Given the description of an element on the screen output the (x, y) to click on. 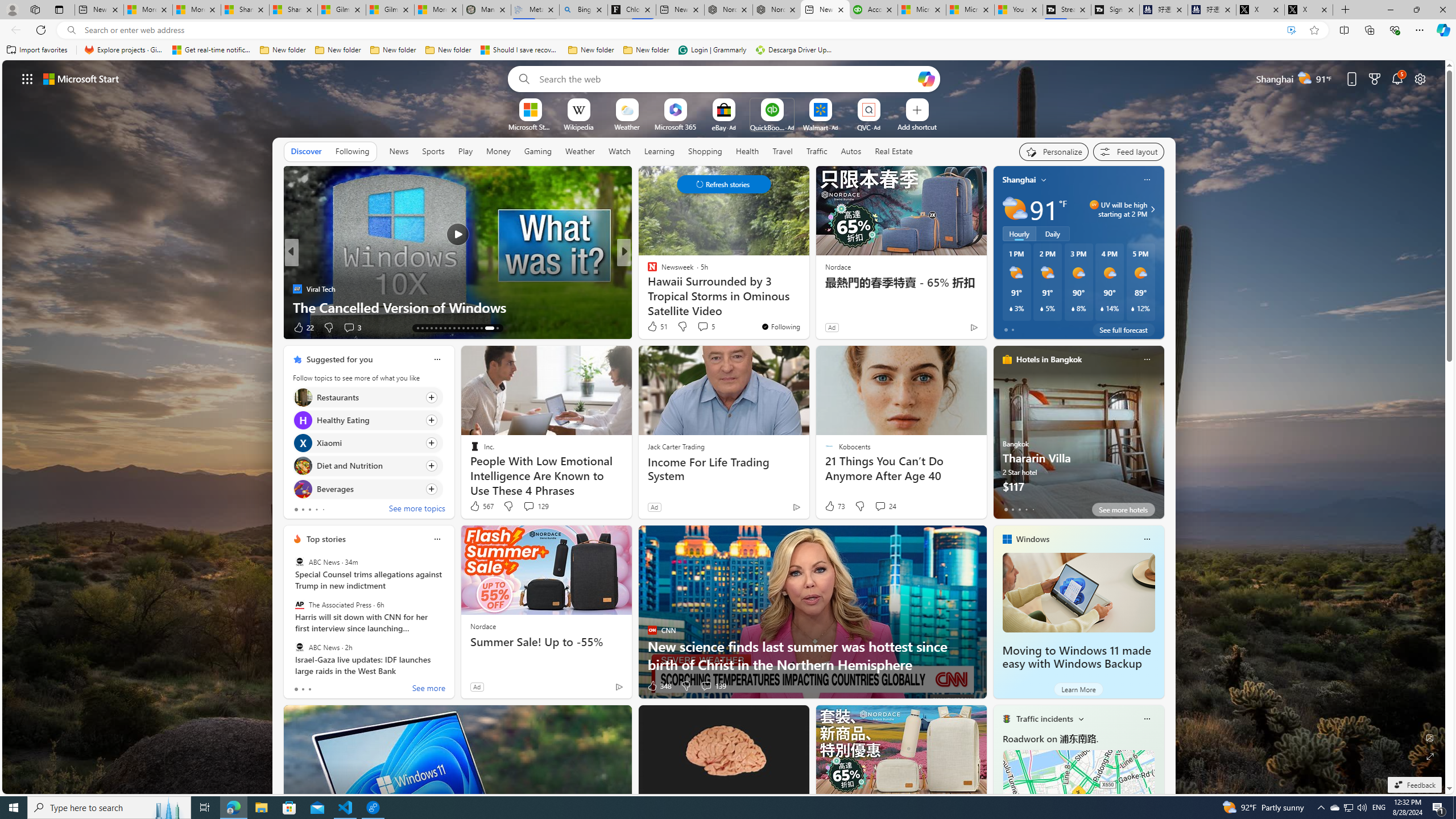
hotels-header-icon (1006, 358)
AutomationID: tab-24 (449, 328)
AutomationID: backgroundImagePicture (723, 426)
New folder (646, 49)
View comments 3 Comment (351, 327)
Learn More (1078, 689)
View comments 32 Comment (6, 327)
Play (465, 151)
Moving to Windows 11 made easy with Windows Backup (1077, 592)
Real Estate (893, 151)
The Cancelled Version of Windows (457, 307)
Descarga Driver Updater (794, 49)
